Given the description of an element on the screen output the (x, y) to click on. 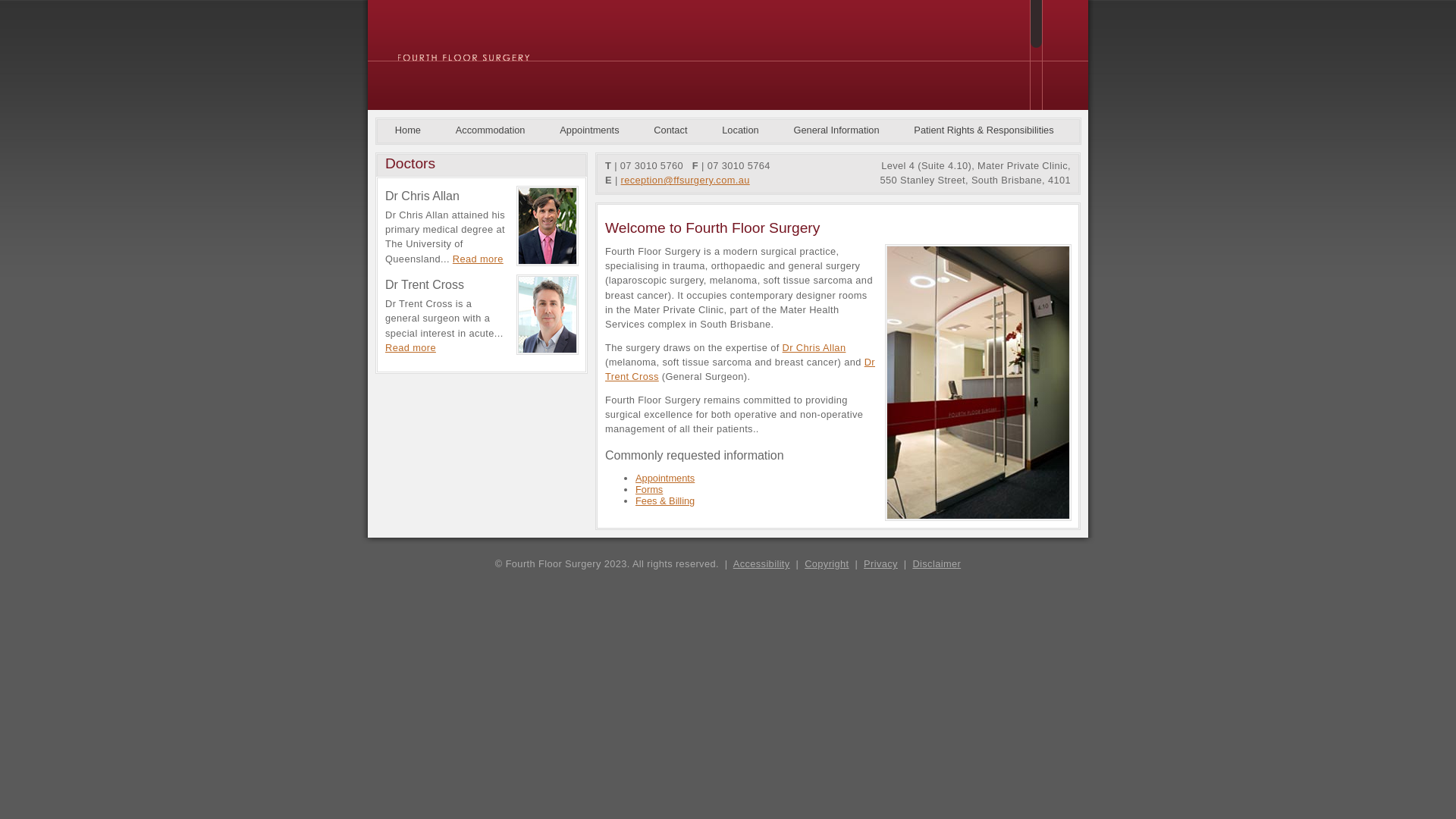
Read more Element type: text (410, 347)
Home Element type: text (407, 130)
Read more Element type: text (477, 258)
Fourth Floor Surgery Home Element type: hover (463, 59)
General Information Element type: text (836, 130)
Disclaimer Element type: text (936, 563)
Privacy Element type: text (880, 563)
Appointments Element type: text (664, 477)
Dr Trent Cross Element type: text (740, 369)
Patient Rights & Responsibilities Element type: text (984, 130)
Contact Element type: text (671, 130)
Copyright Element type: text (826, 563)
Fees & Billing Element type: text (664, 500)
Accommodation Element type: text (490, 130)
Dr Chris Allan Element type: text (814, 347)
Accessibility Element type: text (761, 563)
Forms Element type: text (648, 489)
Location Element type: text (739, 130)
Appointments Element type: text (589, 130)
reception@ffsurgery.com.au Element type: text (685, 179)
